Given the description of an element on the screen output the (x, y) to click on. 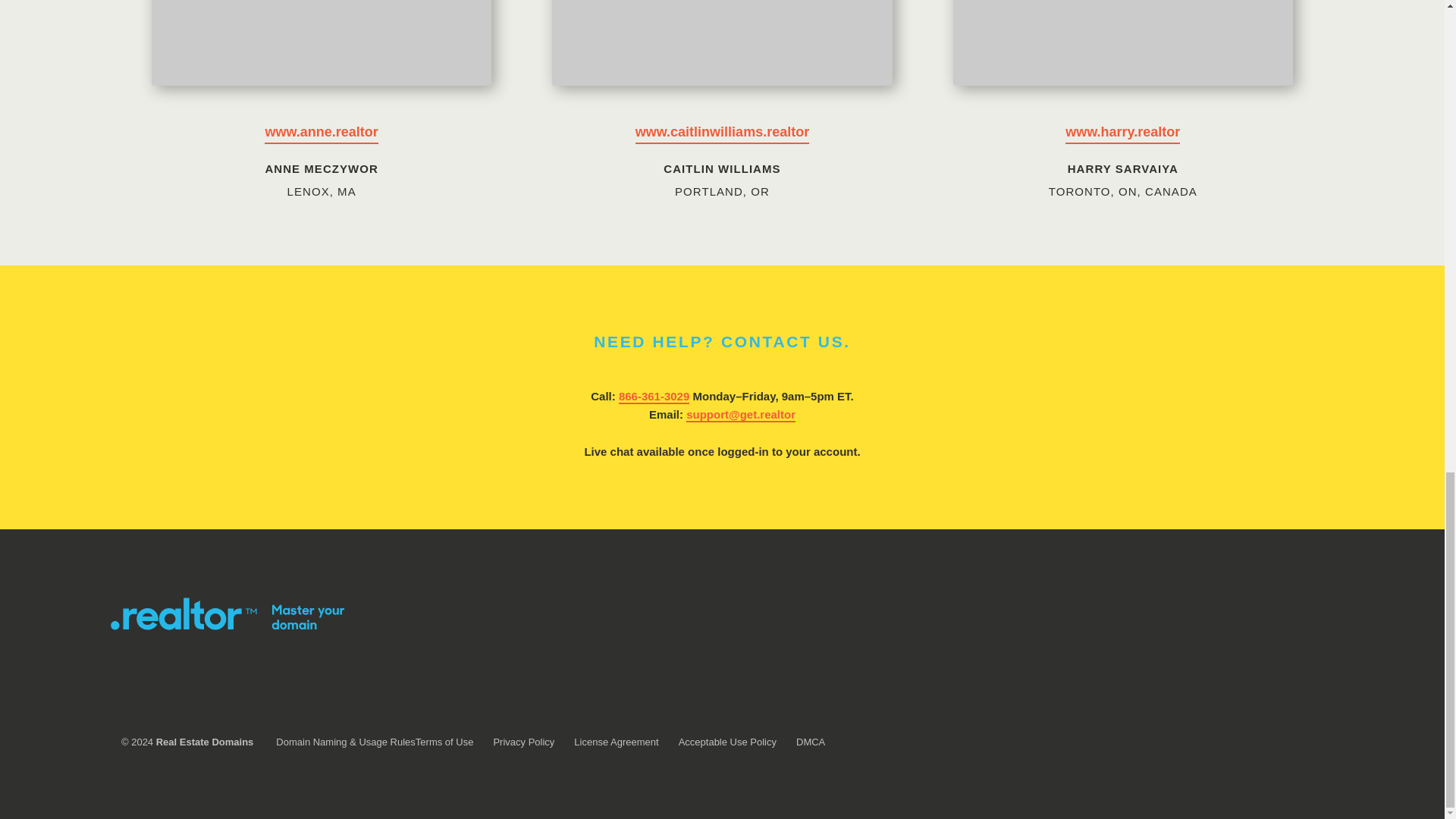
Privacy Policy (523, 741)
License Agreement (615, 741)
Acceptable Use Policy (727, 741)
Acceptable Use Policy (727, 741)
DMCA (810, 741)
Terms of Use (444, 741)
Privacy Policy (523, 741)
866-361-3029 (653, 396)
Terms of Use (444, 741)
License Agreement (615, 741)
DMCA (810, 741)
